Given the description of an element on the screen output the (x, y) to click on. 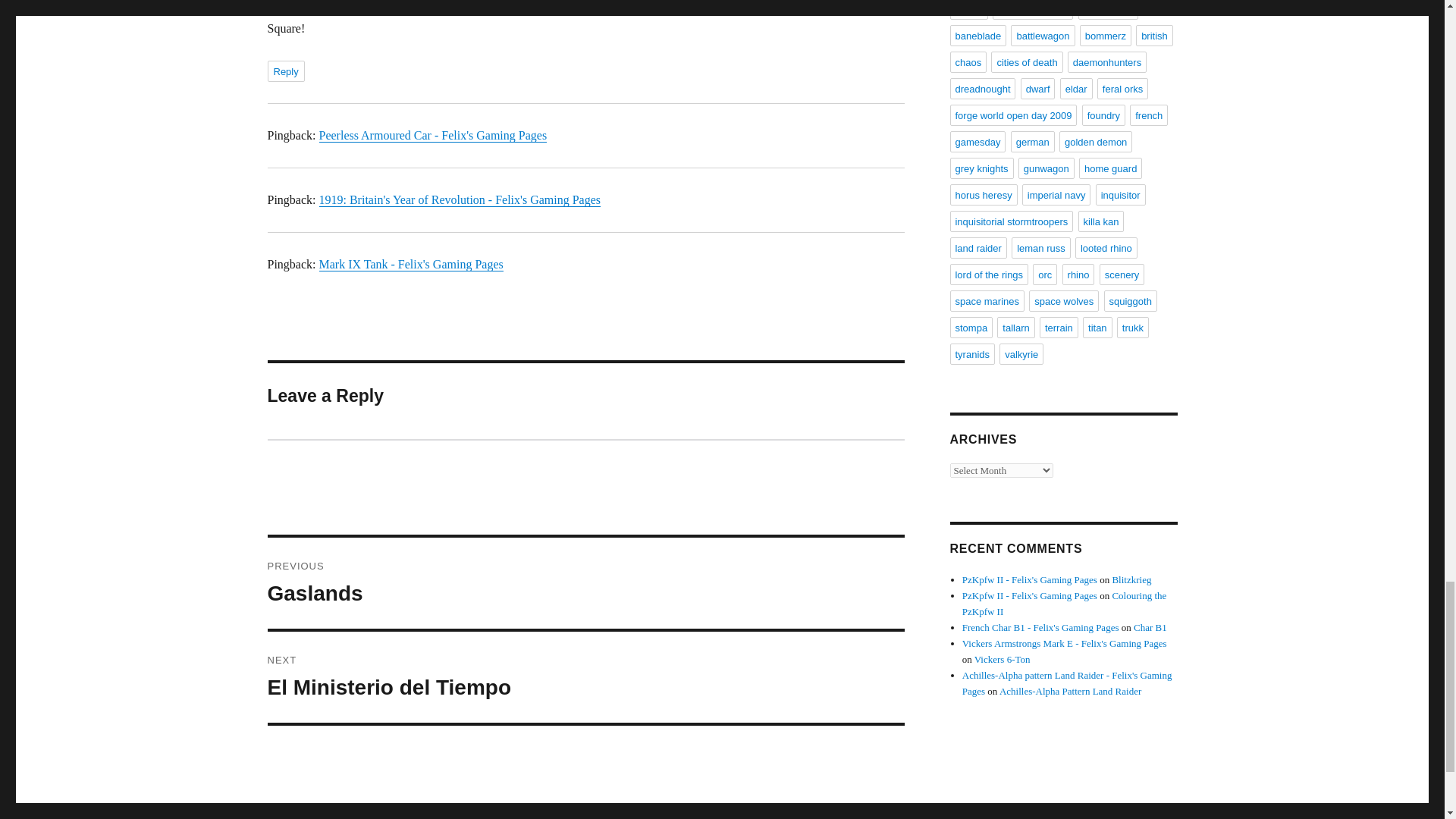
Reply (285, 70)
Mark IX Tank - Felix's Gaming Pages (585, 676)
Peerless Armoured Car - Felix's Gaming Pages (410, 264)
1919: Britain's Year of Revolution - Felix's Gaming Pages (432, 134)
